Given the description of an element on the screen output the (x, y) to click on. 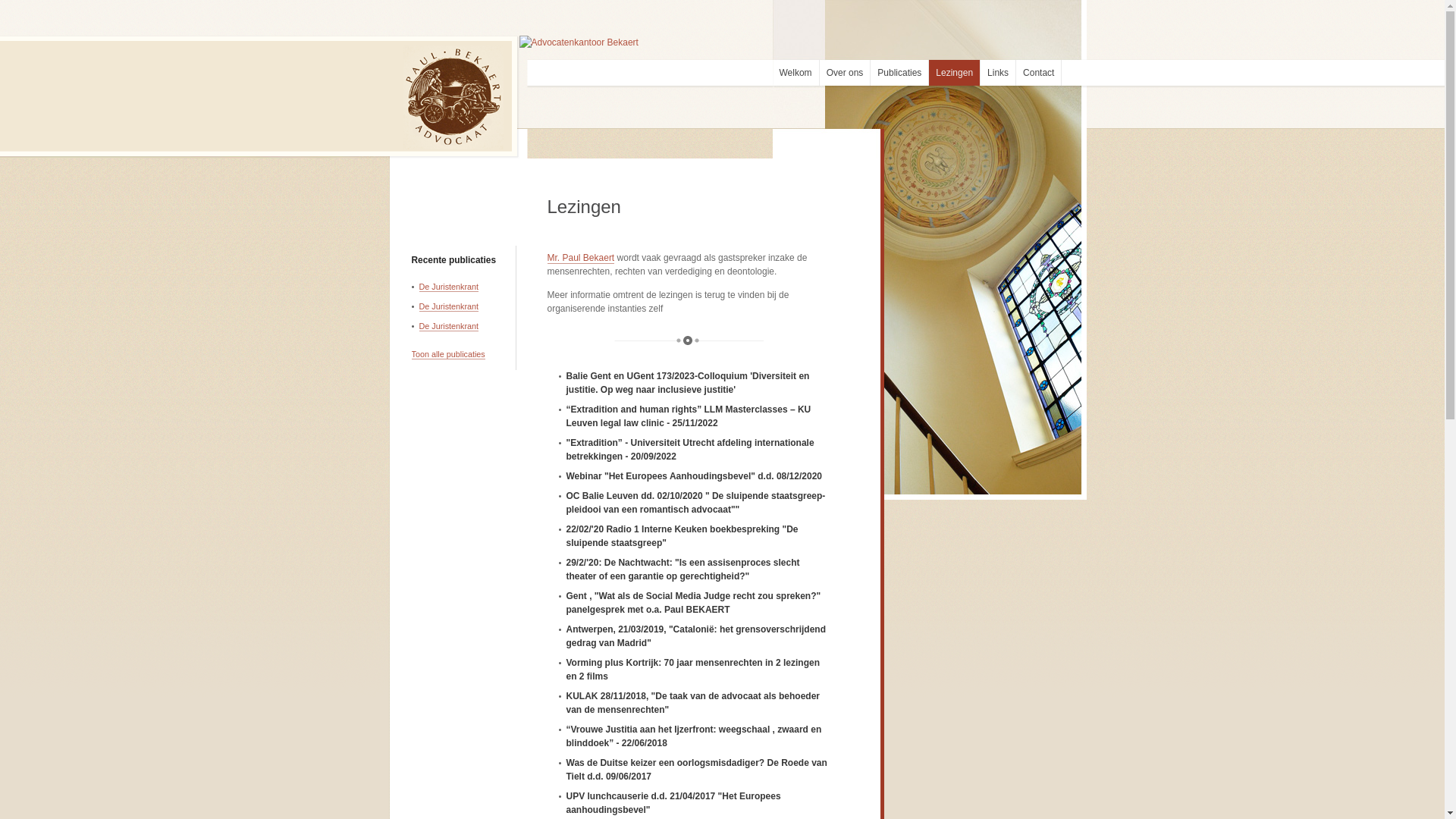
Mr. Paul Bekaert Element type: text (581, 257)
De Juristenkrant Element type: text (448, 326)
De Juristenkrant Element type: text (448, 306)
Toon alle publicaties Element type: text (447, 354)
De Juristenkrant Element type: text (448, 286)
Lezingen Element type: text (953, 72)
Links Element type: text (997, 72)
Over ons Element type: text (844, 72)
Contact Element type: text (1038, 72)
Welkom Element type: text (794, 72)
Publicaties Element type: text (899, 72)
